Given the description of an element on the screen output the (x, y) to click on. 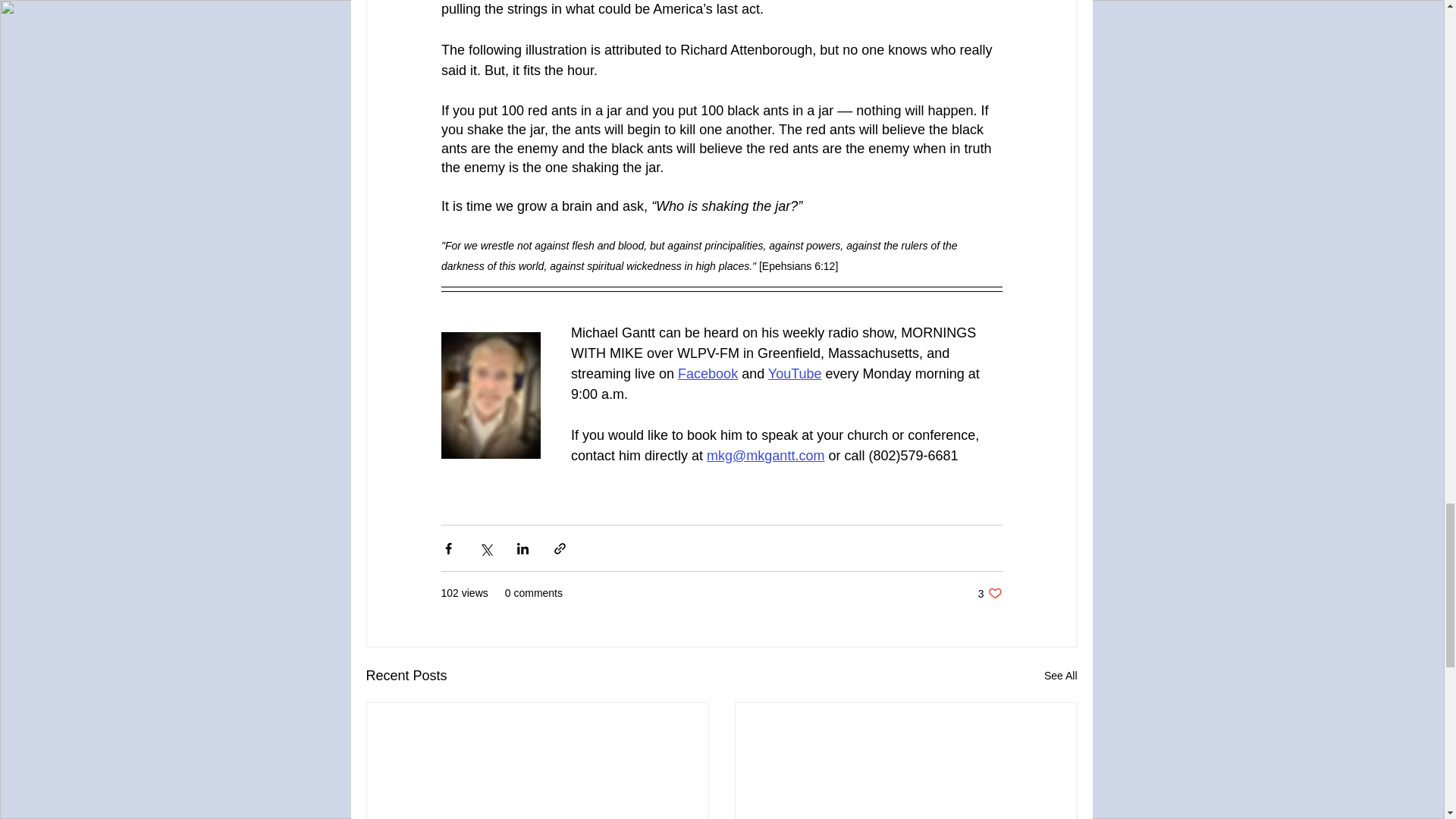
See All (1060, 676)
Facebook (708, 373)
YouTube (990, 593)
